Given the description of an element on the screen output the (x, y) to click on. 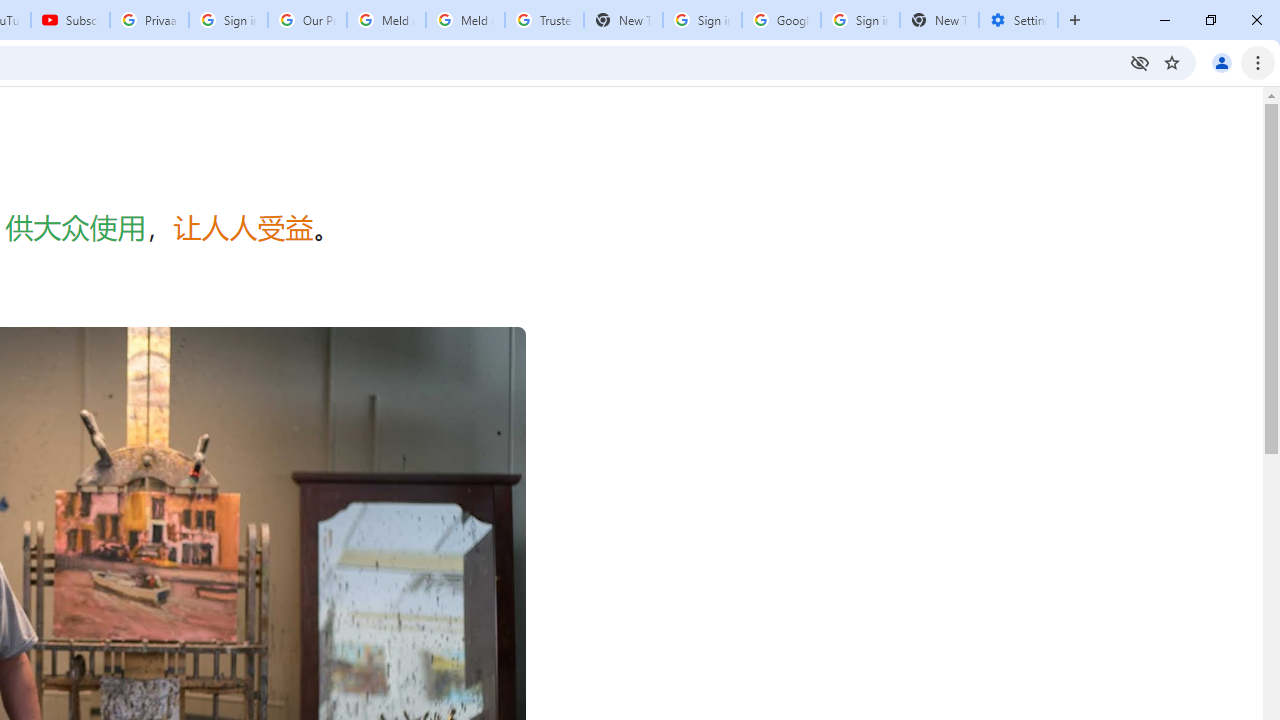
Subscriptions - YouTube (70, 20)
